Given the description of an element on the screen output the (x, y) to click on. 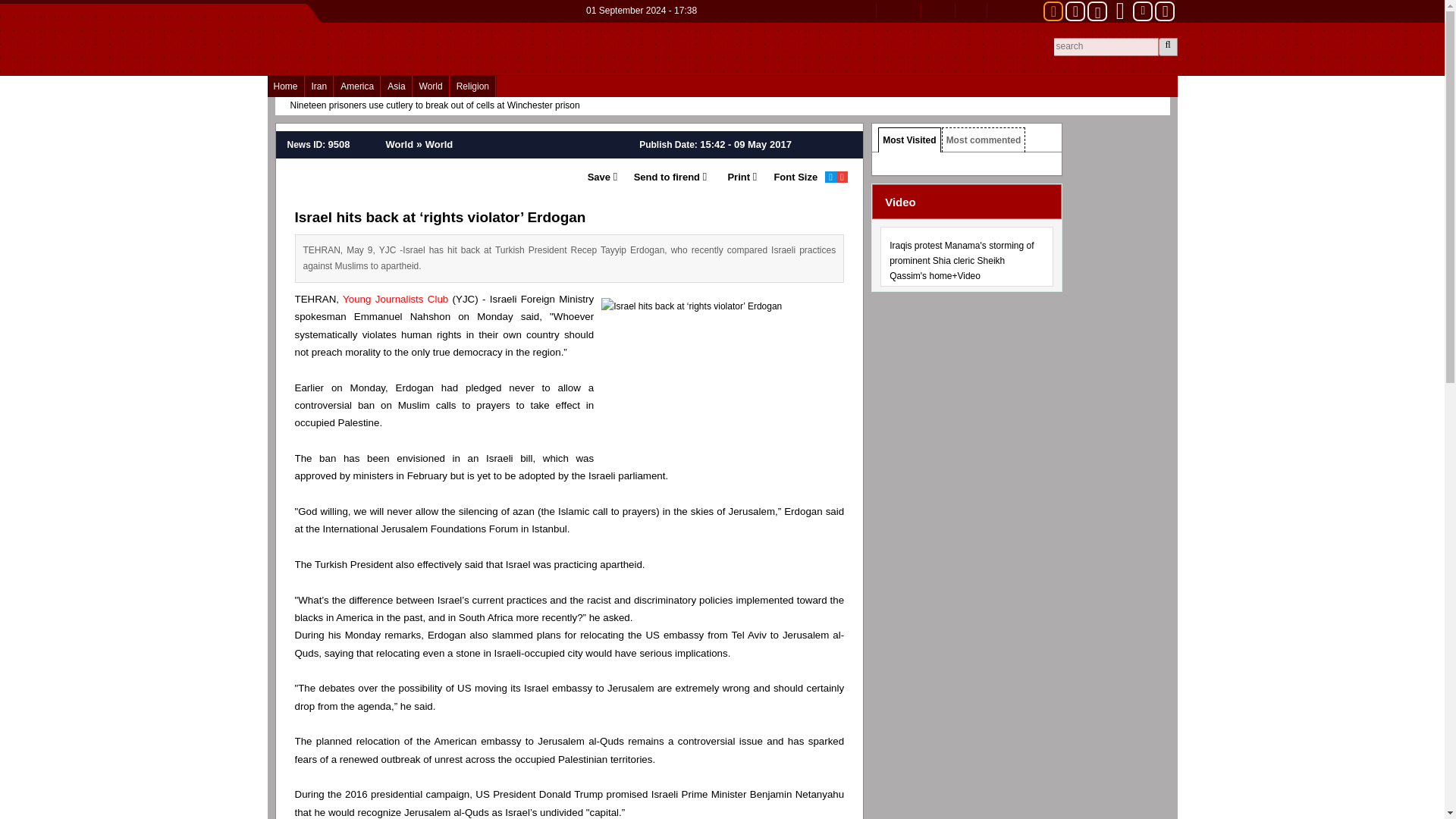
Print (731, 177)
World (430, 86)
America (357, 86)
Save (598, 177)
Asia (395, 86)
Send to friends (661, 177)
Home (284, 86)
Iran (319, 86)
Religion (472, 86)
